Given the description of an element on the screen output the (x, y) to click on. 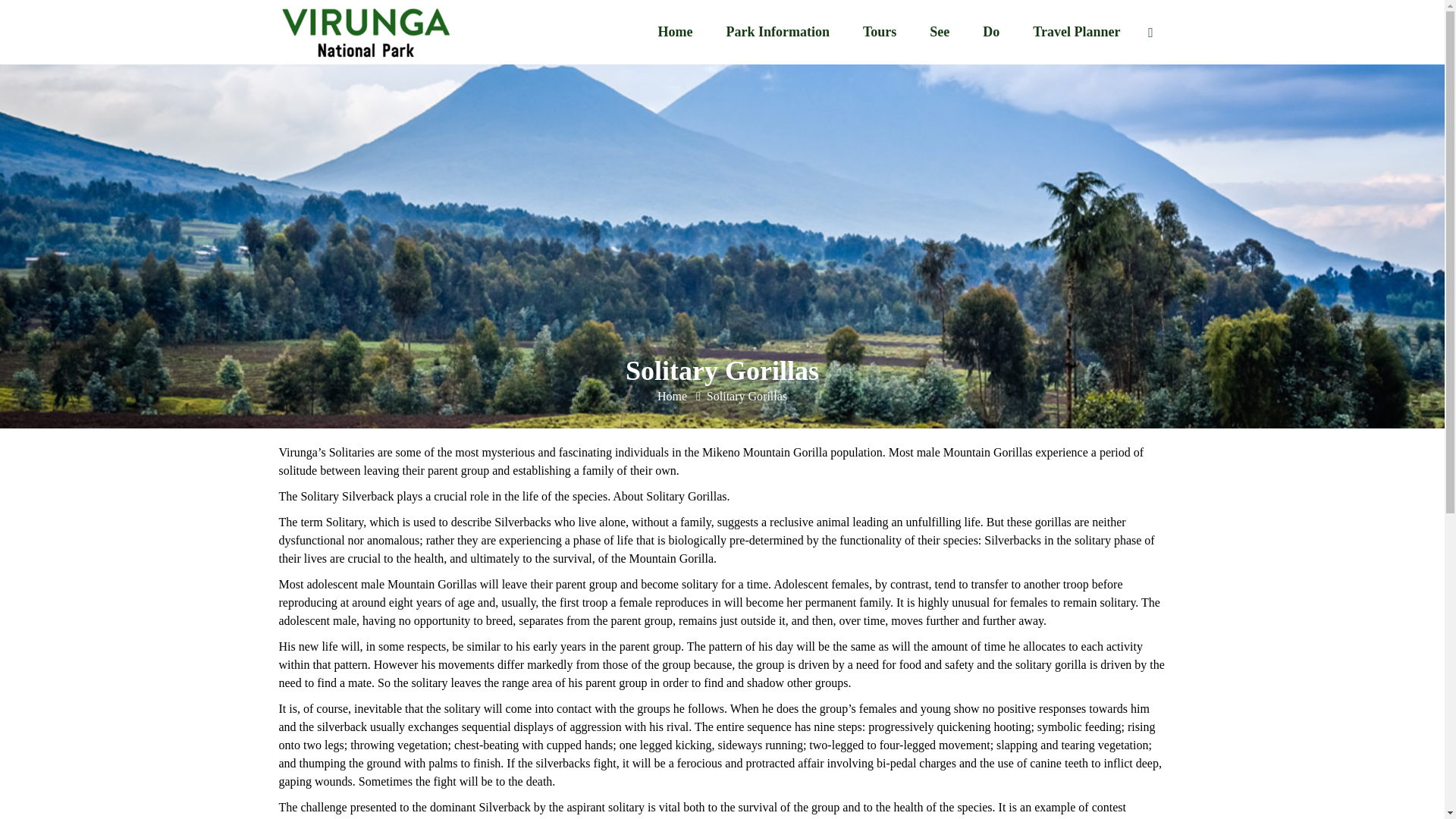
Do (991, 32)
See (938, 32)
Home (674, 395)
Home (675, 32)
Park Information (777, 32)
Solitary Gorillas (746, 395)
Travel Planner (1076, 32)
Tours (879, 32)
